Given the description of an element on the screen output the (x, y) to click on. 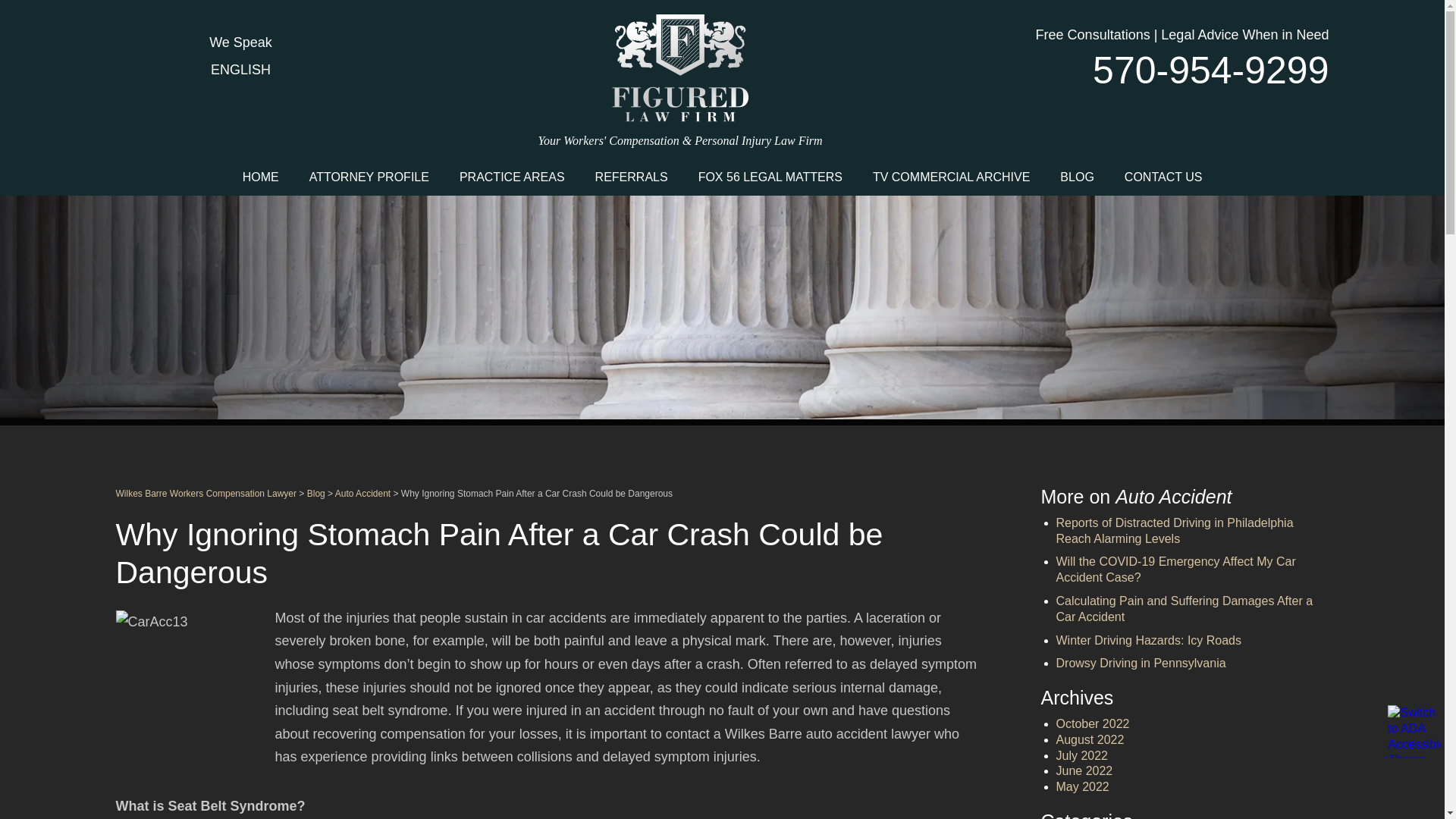
FOX 56 LEGAL MATTERS (769, 176)
REFERRALS (630, 176)
Switch to ADA Accessible Theme (1414, 731)
PRACTICE AREAS (511, 176)
570-954-9299 (1189, 70)
CarAcc13 (190, 686)
TV COMMERCIAL ARCHIVE (951, 176)
ATTORNEY PROFILE (369, 176)
HOME (260, 176)
